Given the description of an element on the screen output the (x, y) to click on. 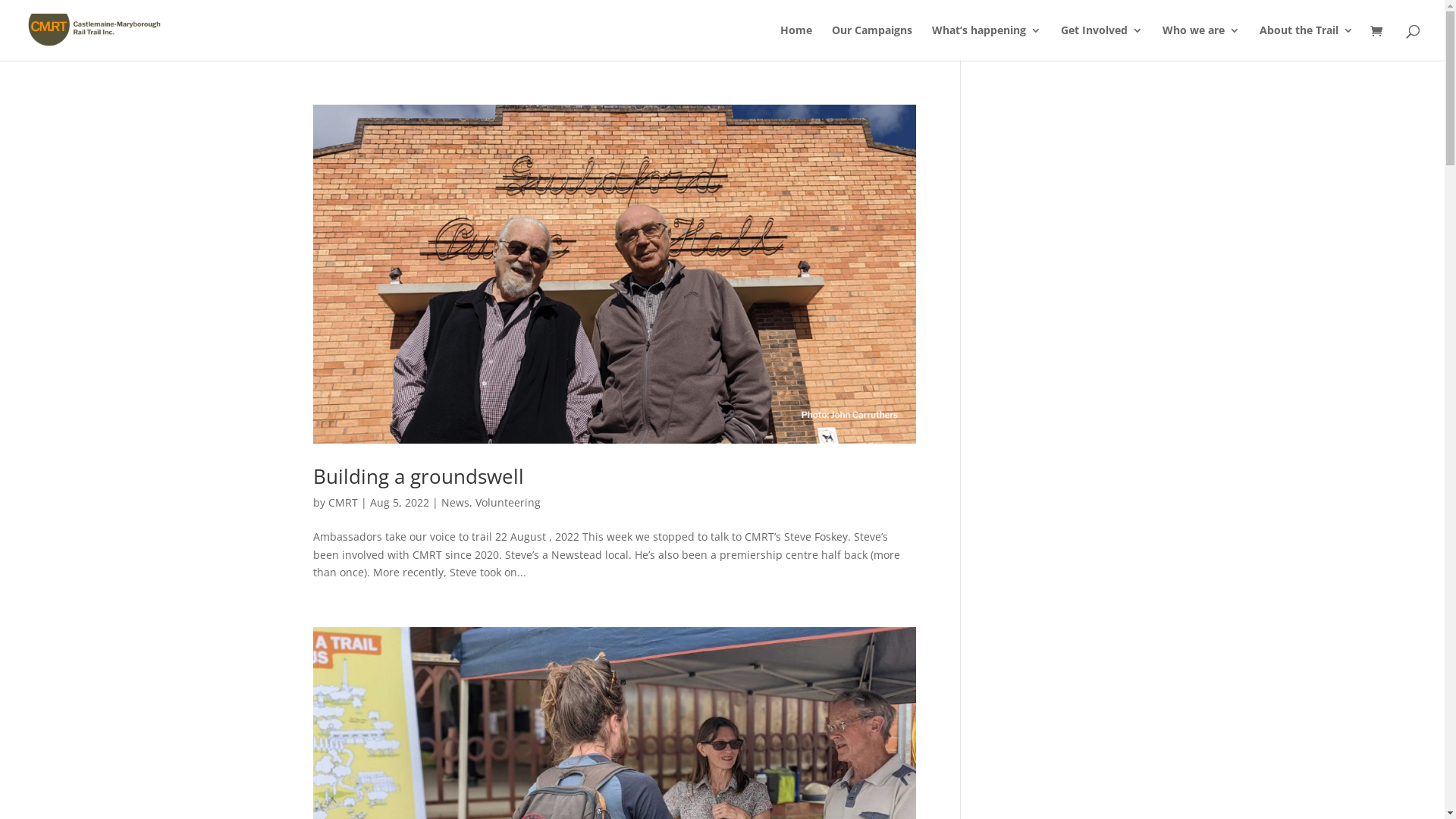
Volunteering Element type: text (506, 502)
CMRT Element type: text (342, 502)
Building a groundswell Element type: text (417, 475)
Get Involved Element type: text (1101, 42)
Our Campaigns Element type: text (871, 42)
Home Element type: text (796, 42)
About the Trail Element type: text (1306, 42)
News Element type: text (455, 502)
Who we are Element type: text (1200, 42)
